Given the description of an element on the screen output the (x, y) to click on. 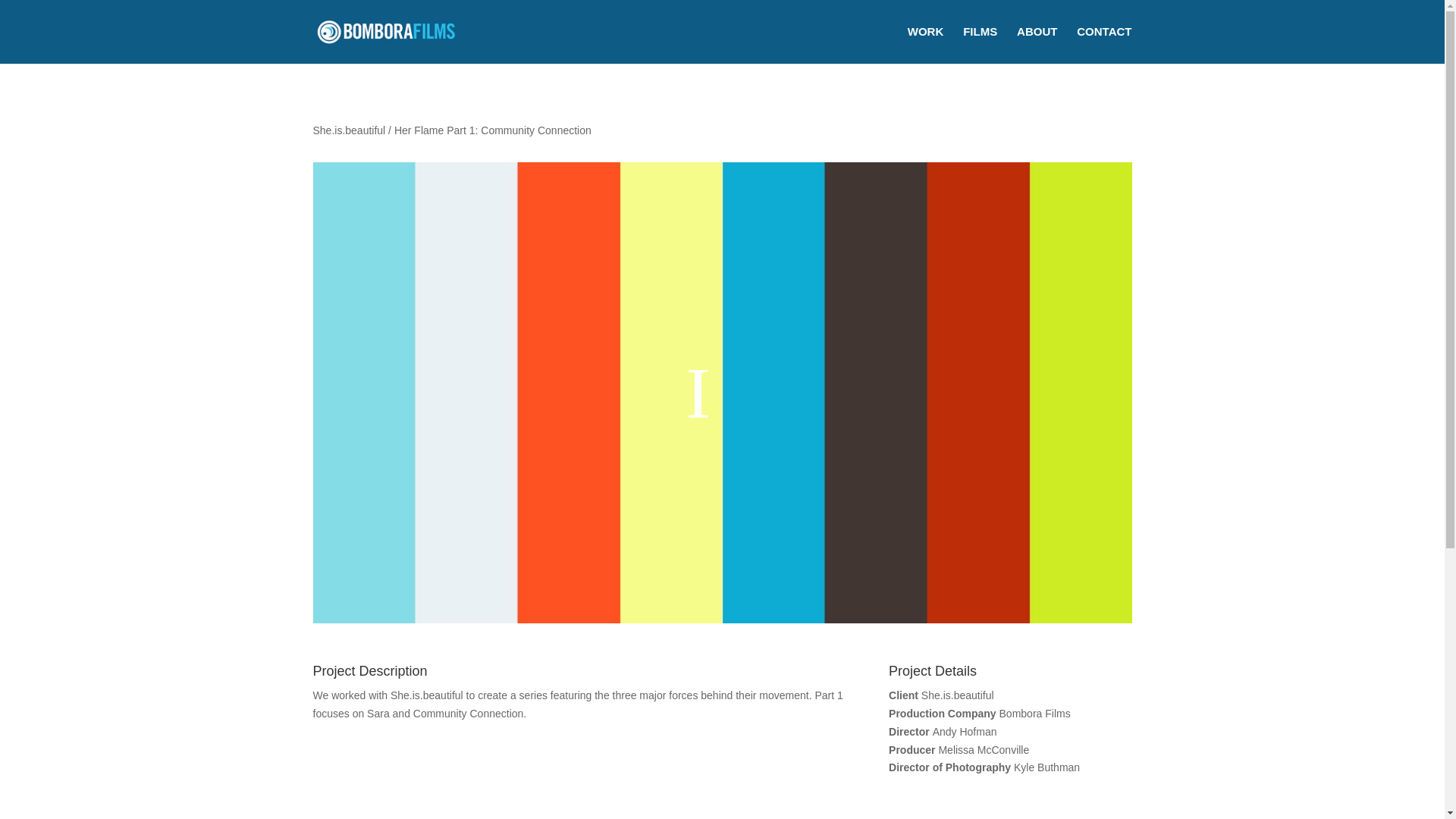
ABOUT (1036, 44)
WORK (925, 44)
FILMS (979, 44)
CONTACT (1104, 44)
